Given the description of an element on the screen output the (x, y) to click on. 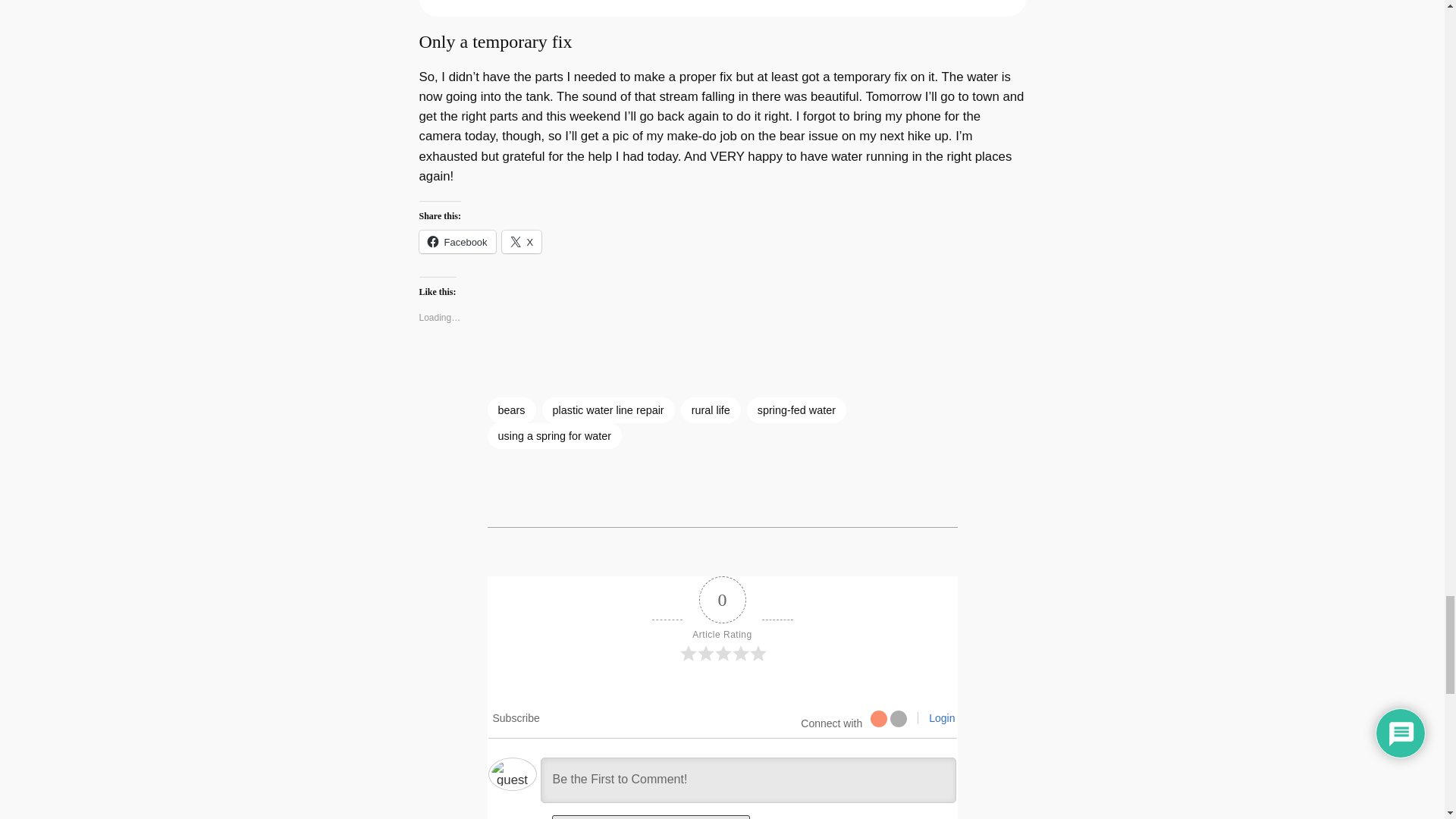
bears (510, 410)
spring-fed water (795, 410)
X (521, 241)
using a spring for water (553, 435)
Facebook (457, 241)
rural life (711, 410)
Click to share on Facebook (457, 241)
Click to share on X (521, 241)
Login (941, 717)
plastic water line repair (607, 410)
